Given the description of an element on the screen output the (x, y) to click on. 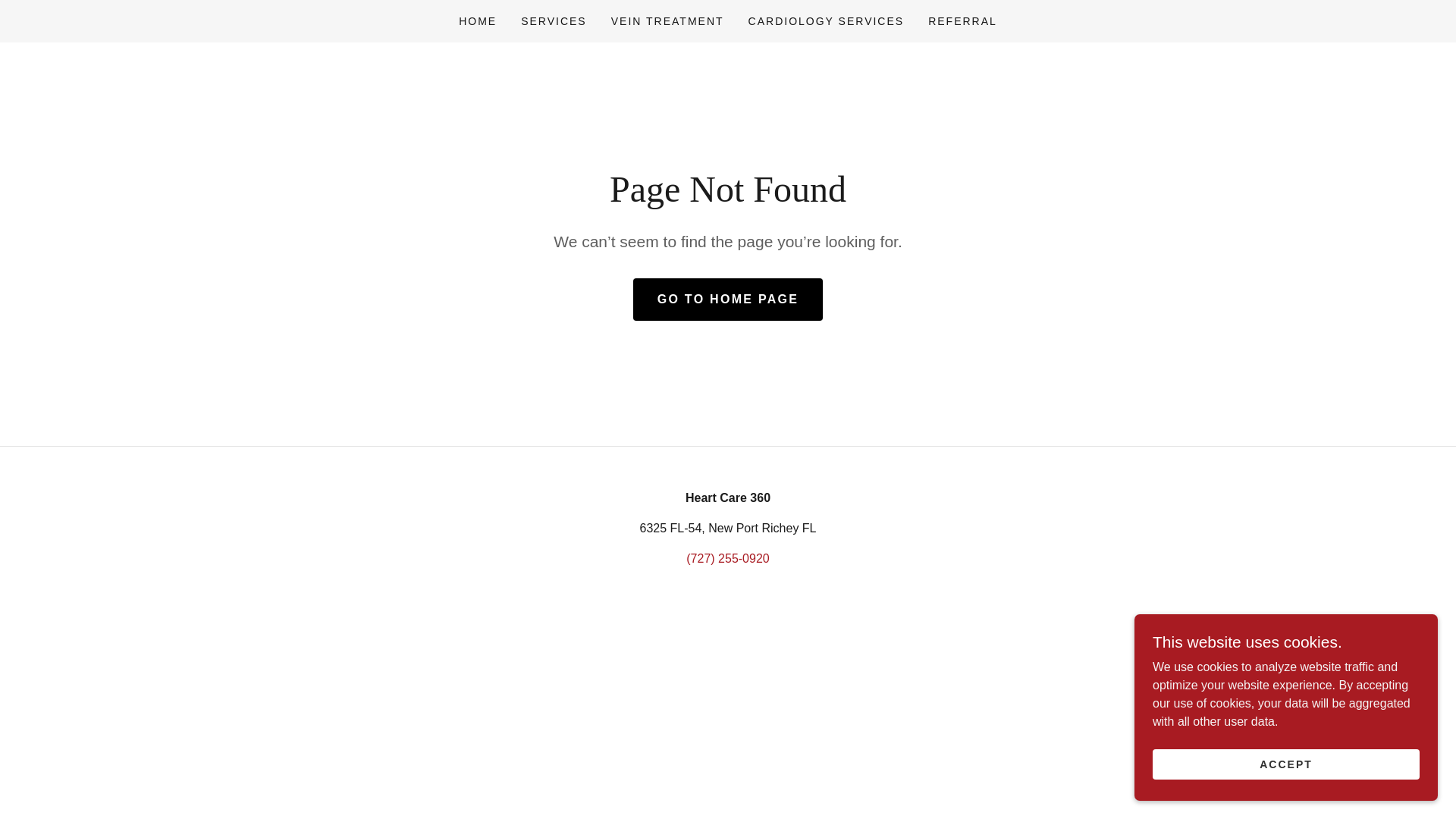
VEIN TREATMENT (668, 21)
GO TO HOME PAGE (728, 299)
REFERRAL (962, 21)
ACCEPT (1286, 764)
SERVICES (553, 21)
HOME (477, 21)
CARDIOLOGY SERVICES (826, 21)
